Given the description of an element on the screen output the (x, y) to click on. 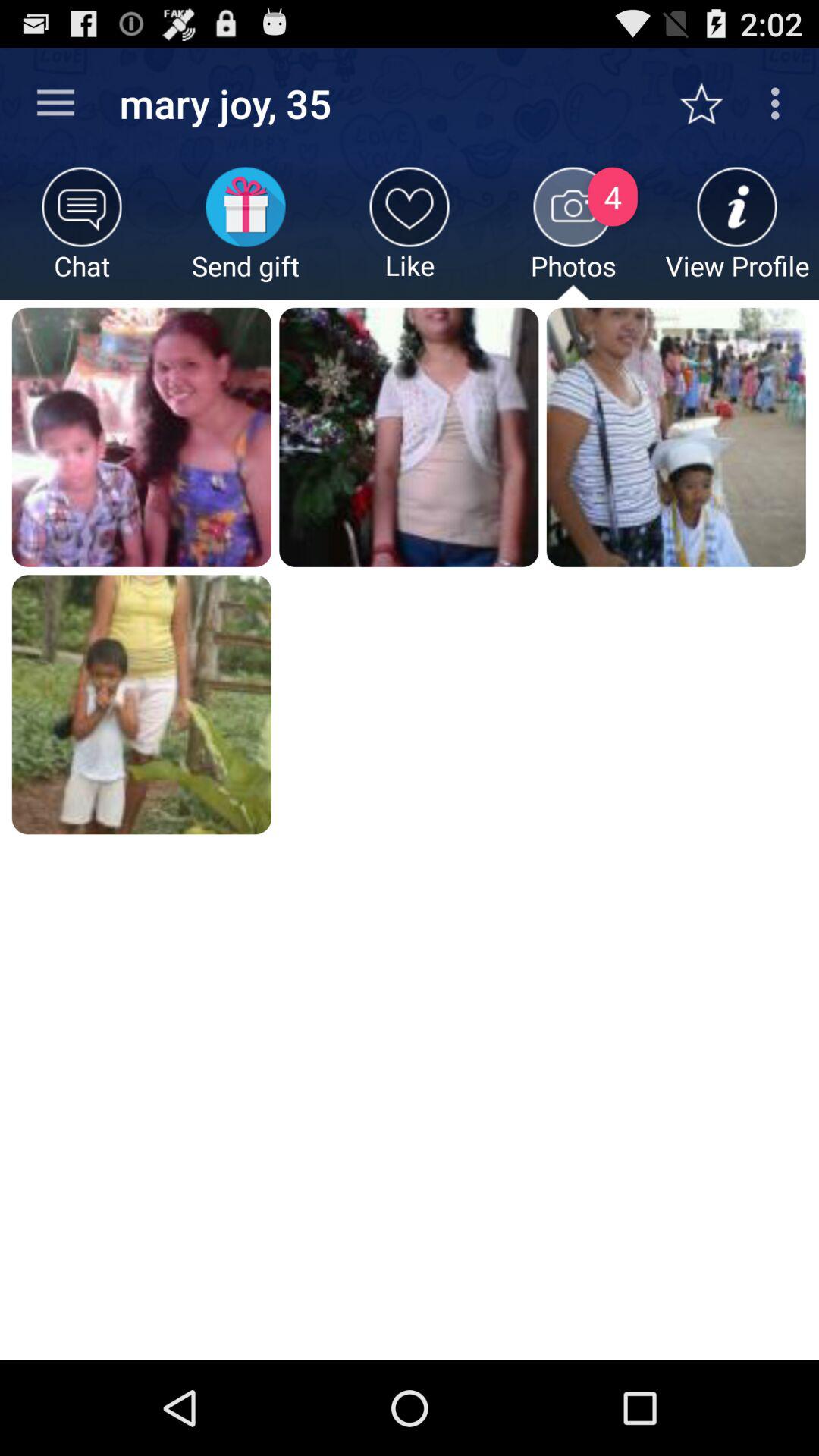
scroll to the send gift item (245, 233)
